Given the description of an element on the screen output the (x, y) to click on. 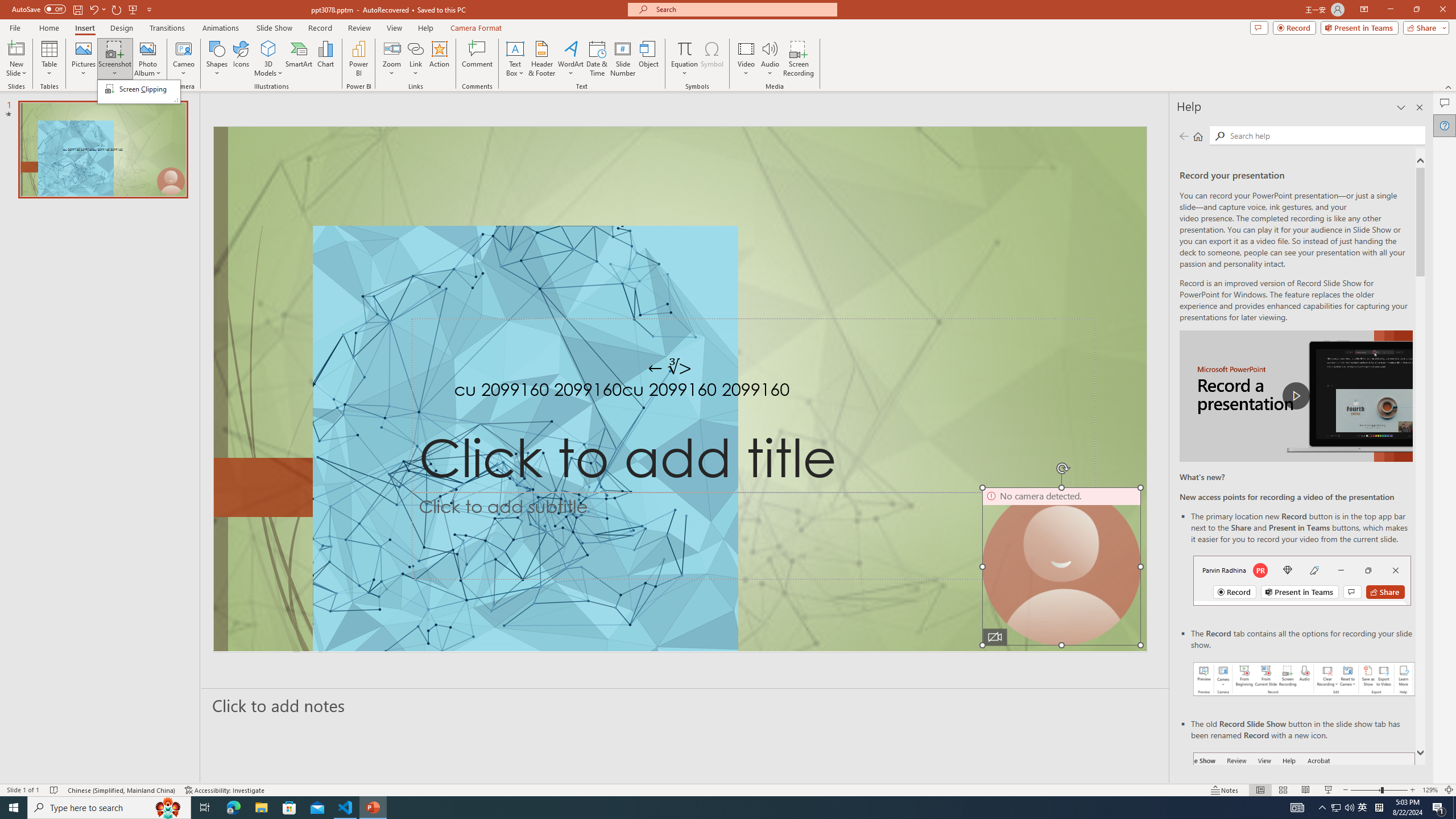
Previous page (1183, 136)
Record button in top bar (1301, 580)
Photo Album... (147, 58)
